Given the description of an element on the screen output the (x, y) to click on. 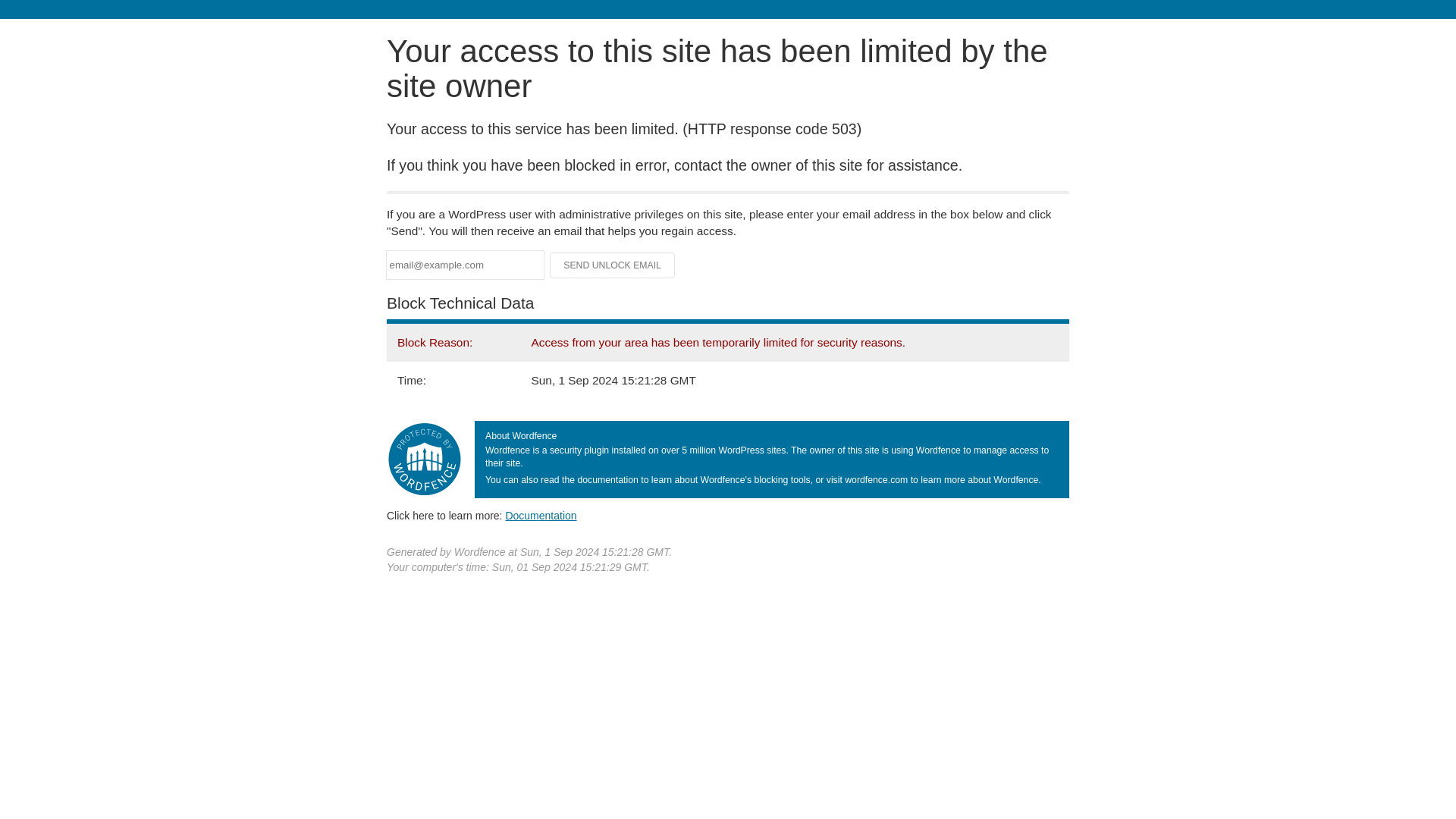
Send Unlock Email (612, 265)
Documentation (540, 515)
Send Unlock Email (612, 265)
